Given the description of an element on the screen output the (x, y) to click on. 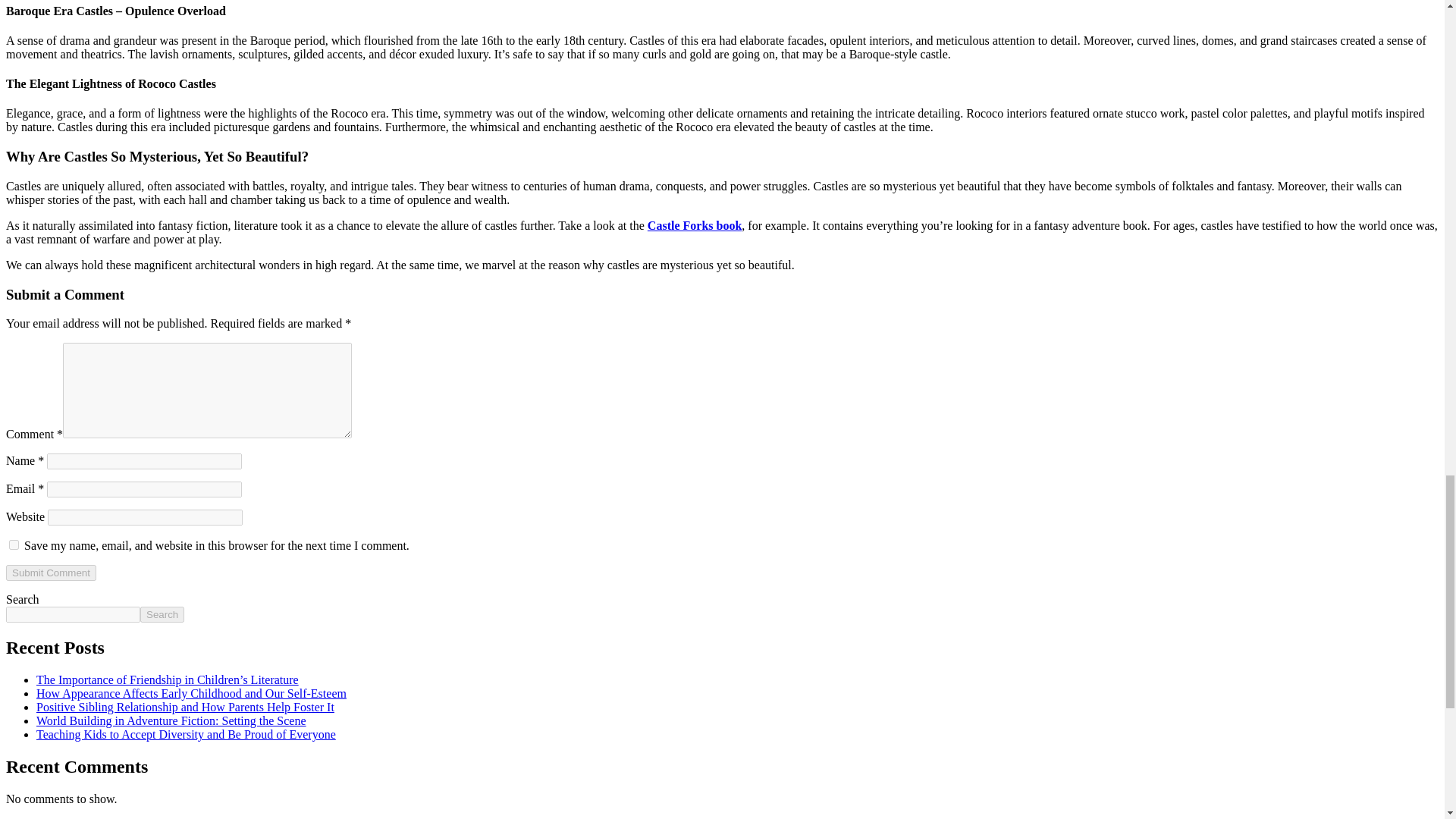
Teaching Kids to Accept Diversity and Be Proud of Everyone (186, 734)
Submit Comment (50, 572)
How Appearance Affects Early Childhood and Our Self-Esteem (191, 693)
World Building in Adventure Fiction: Setting the Scene (170, 720)
Castle Forks book (694, 225)
Search (161, 614)
Positive Sibling Relationship and How Parents Help Foster It (185, 707)
yes (13, 544)
Submit Comment (50, 572)
